Given the description of an element on the screen output the (x, y) to click on. 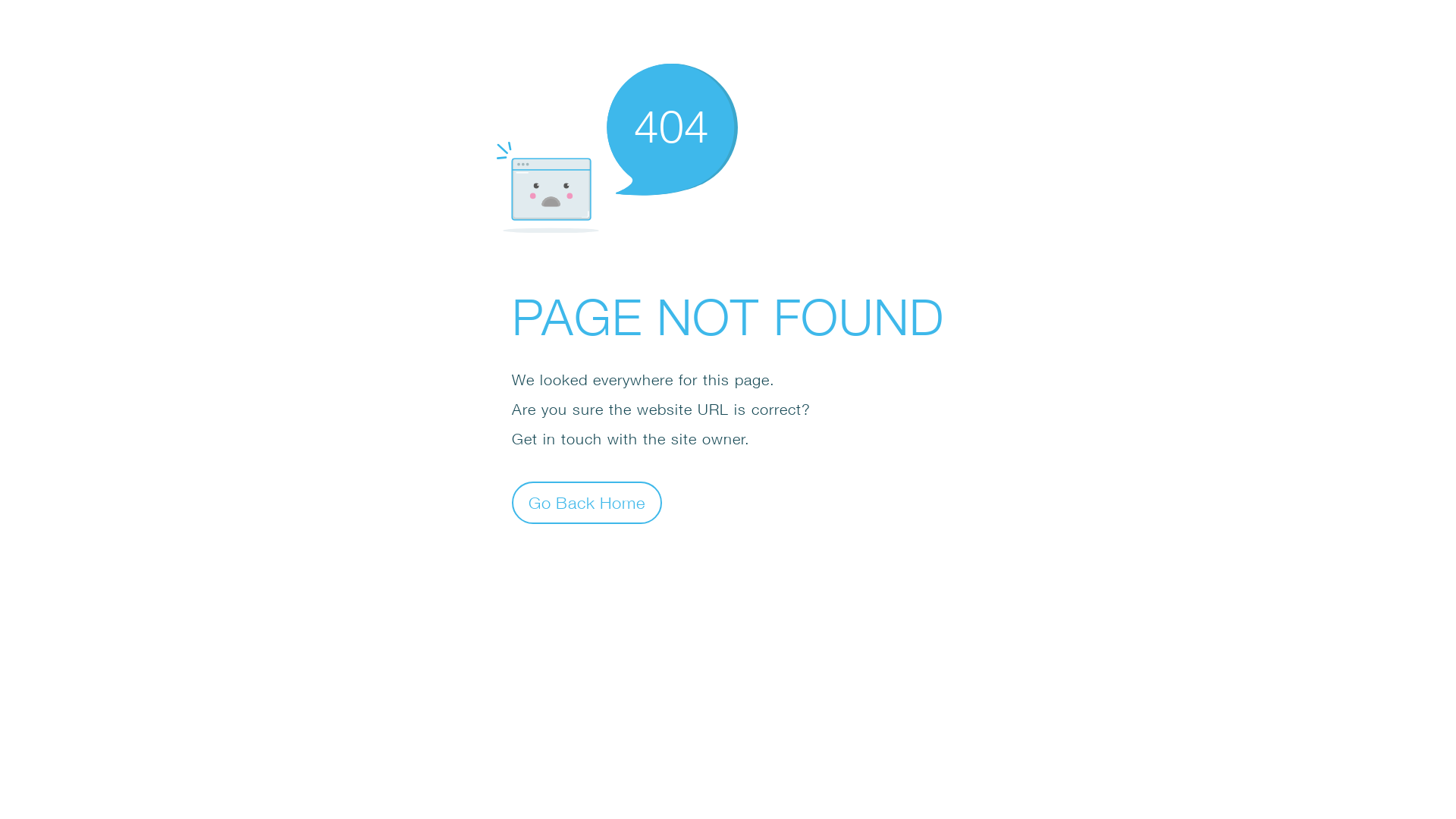
Go Back Home Element type: text (586, 502)
